Given the description of an element on the screen output the (x, y) to click on. 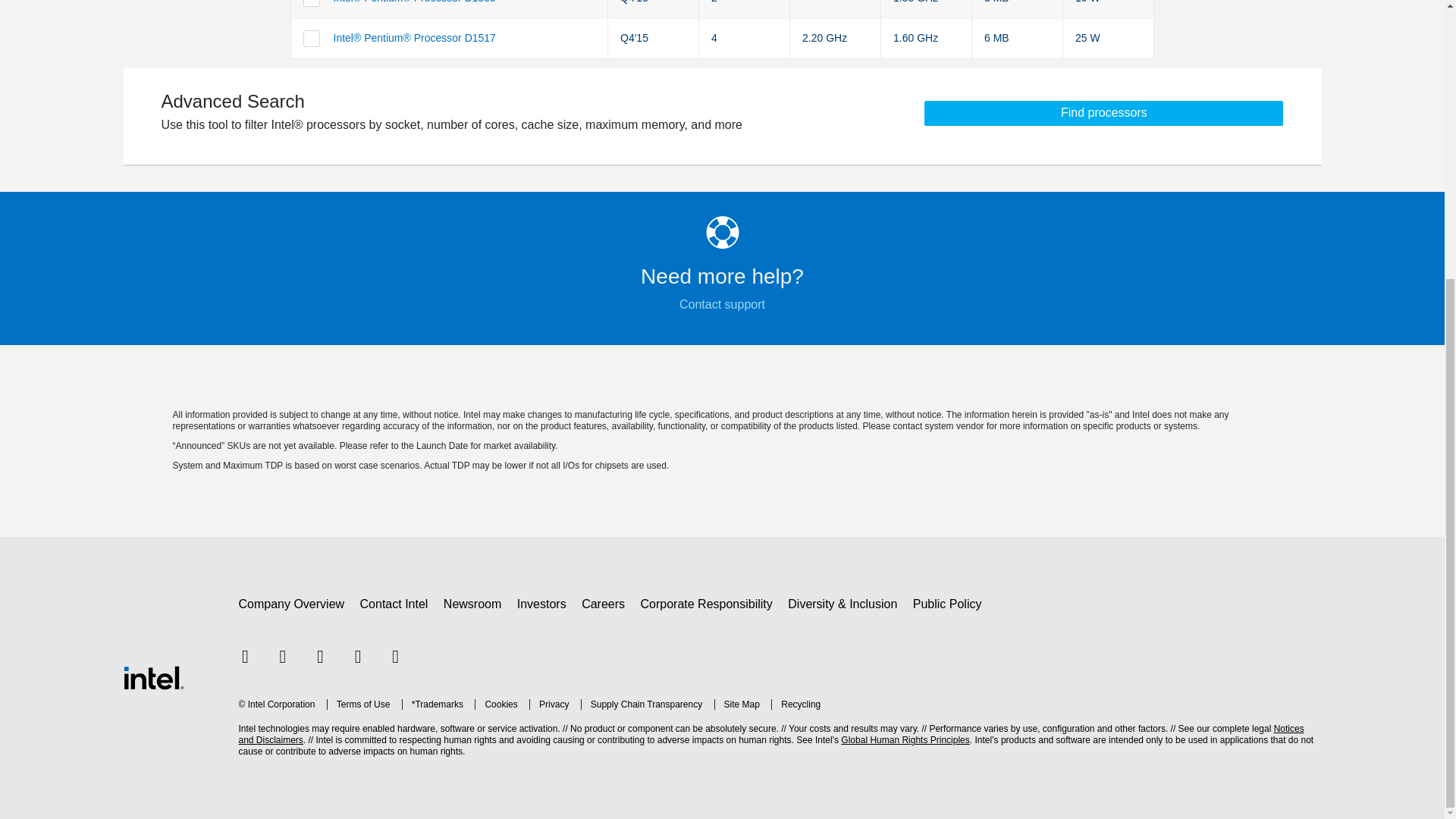
Intel Footer Logo (152, 676)
